Given the description of an element on the screen output the (x, y) to click on. 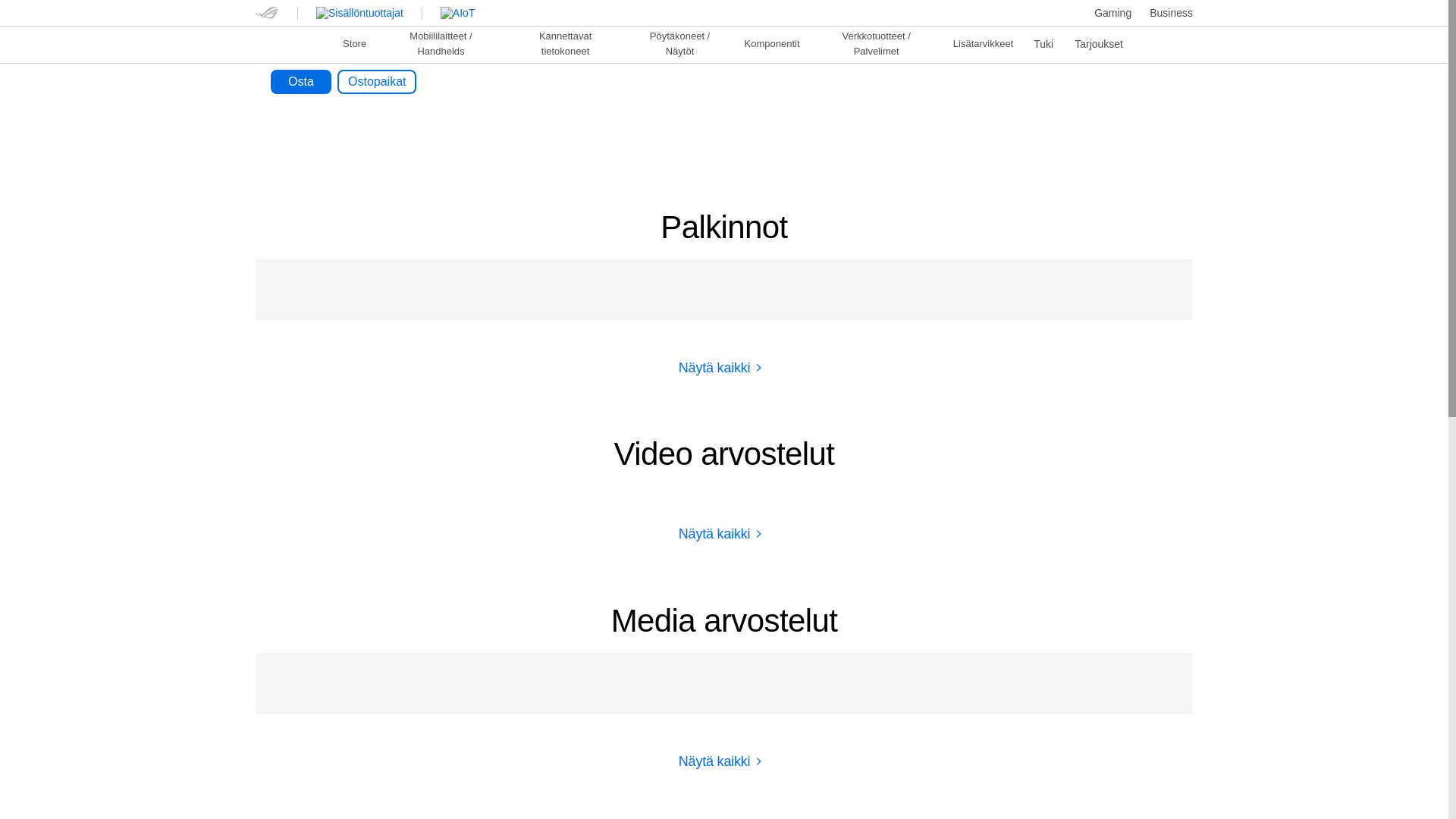
Store (354, 43)
Business (1171, 12)
Osta (300, 81)
Ostopaikat (376, 81)
